Given the description of an element on the screen output the (x, y) to click on. 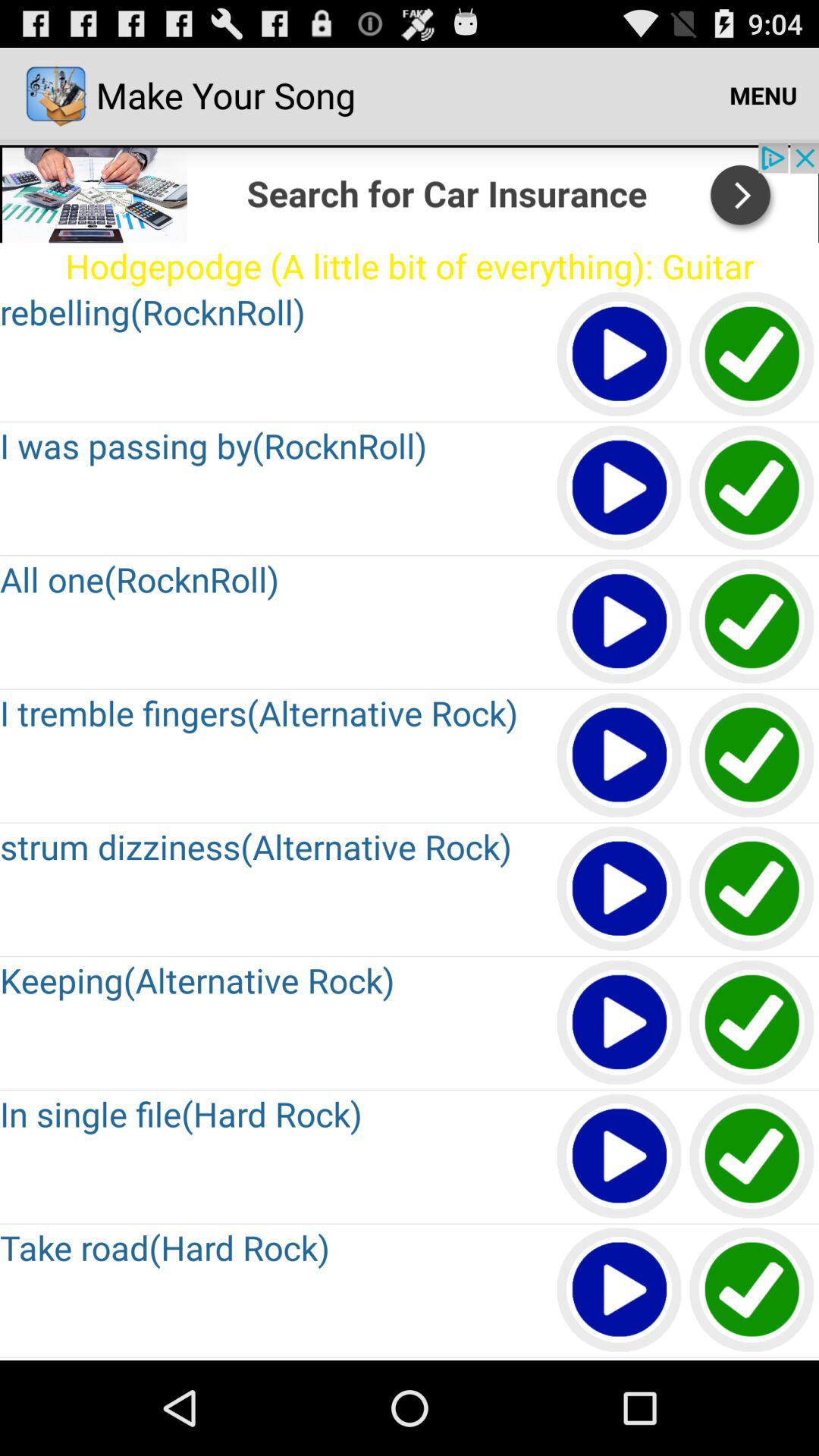
autio play (619, 488)
